Given the description of an element on the screen output the (x, y) to click on. 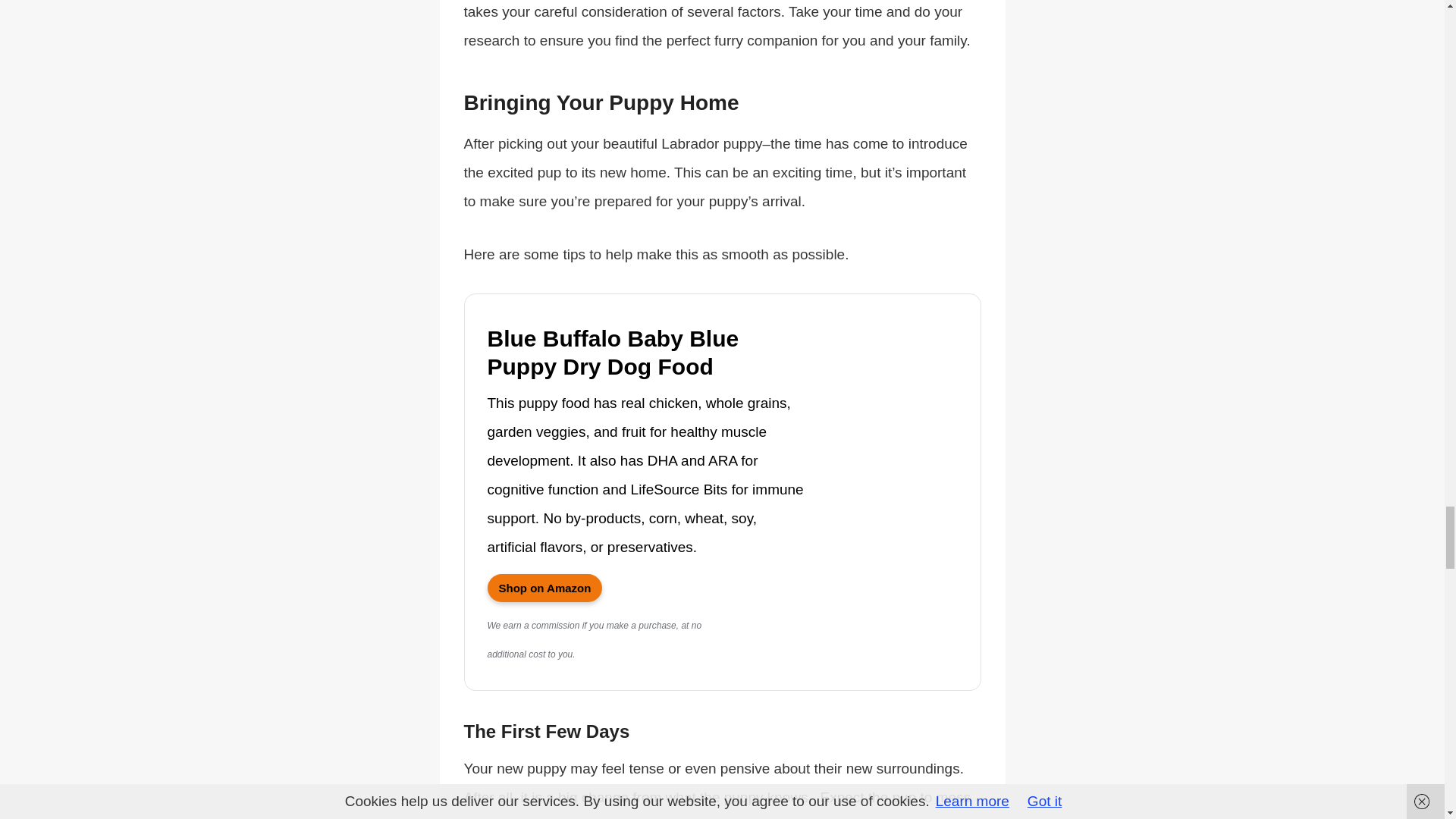
Blue Buffalo Baby Blue Puppy Dry Dog Food (645, 352)
Blue Buffalo Baby Blue Puppy Dry Dog Food (544, 587)
Blue Buffalo Baby Blue Puppy Dry Dog Food (645, 352)
Shop on Amazon (544, 587)
